Given the description of an element on the screen output the (x, y) to click on. 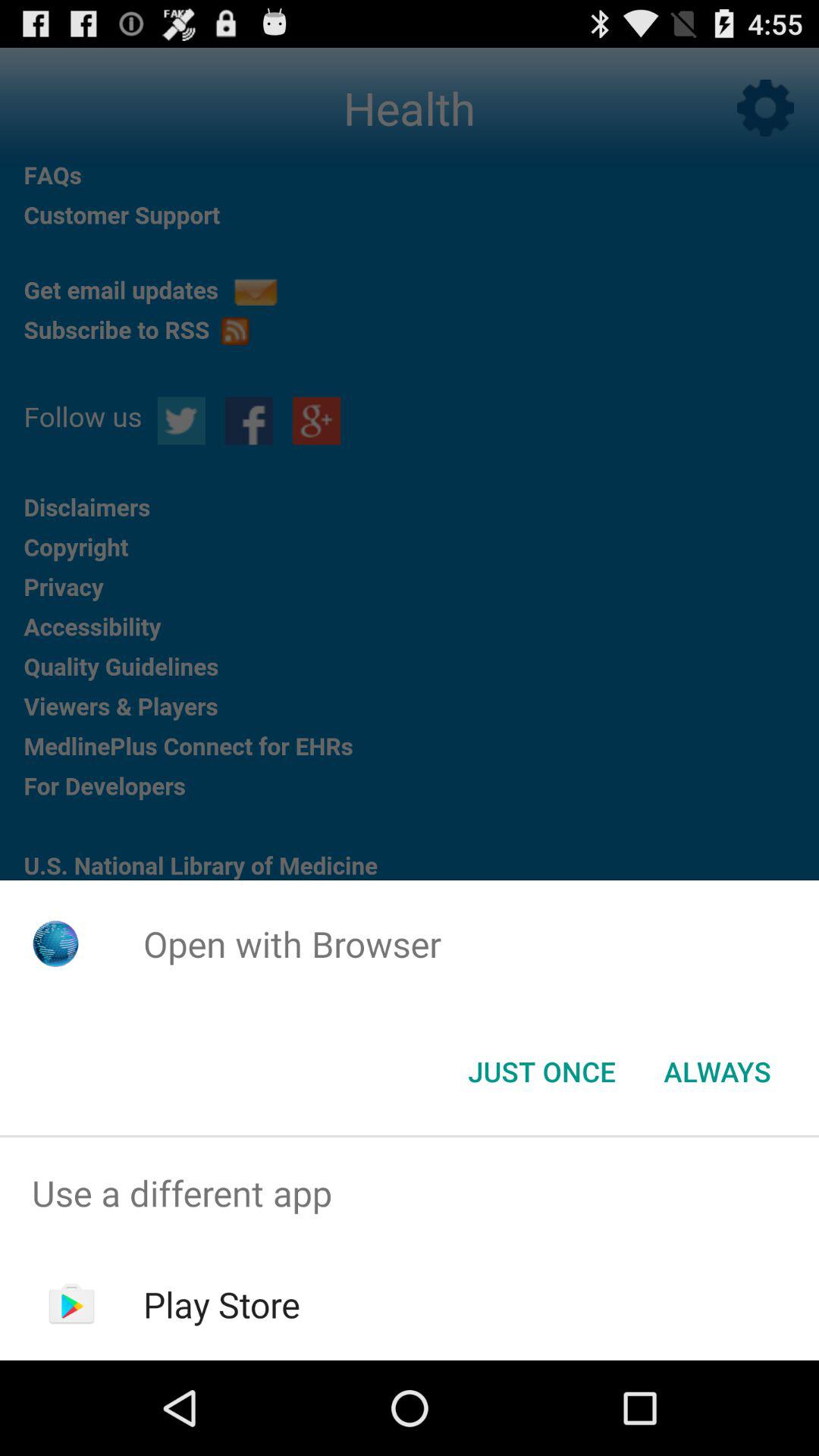
launch the icon to the right of just once button (717, 1071)
